Given the description of an element on the screen output the (x, y) to click on. 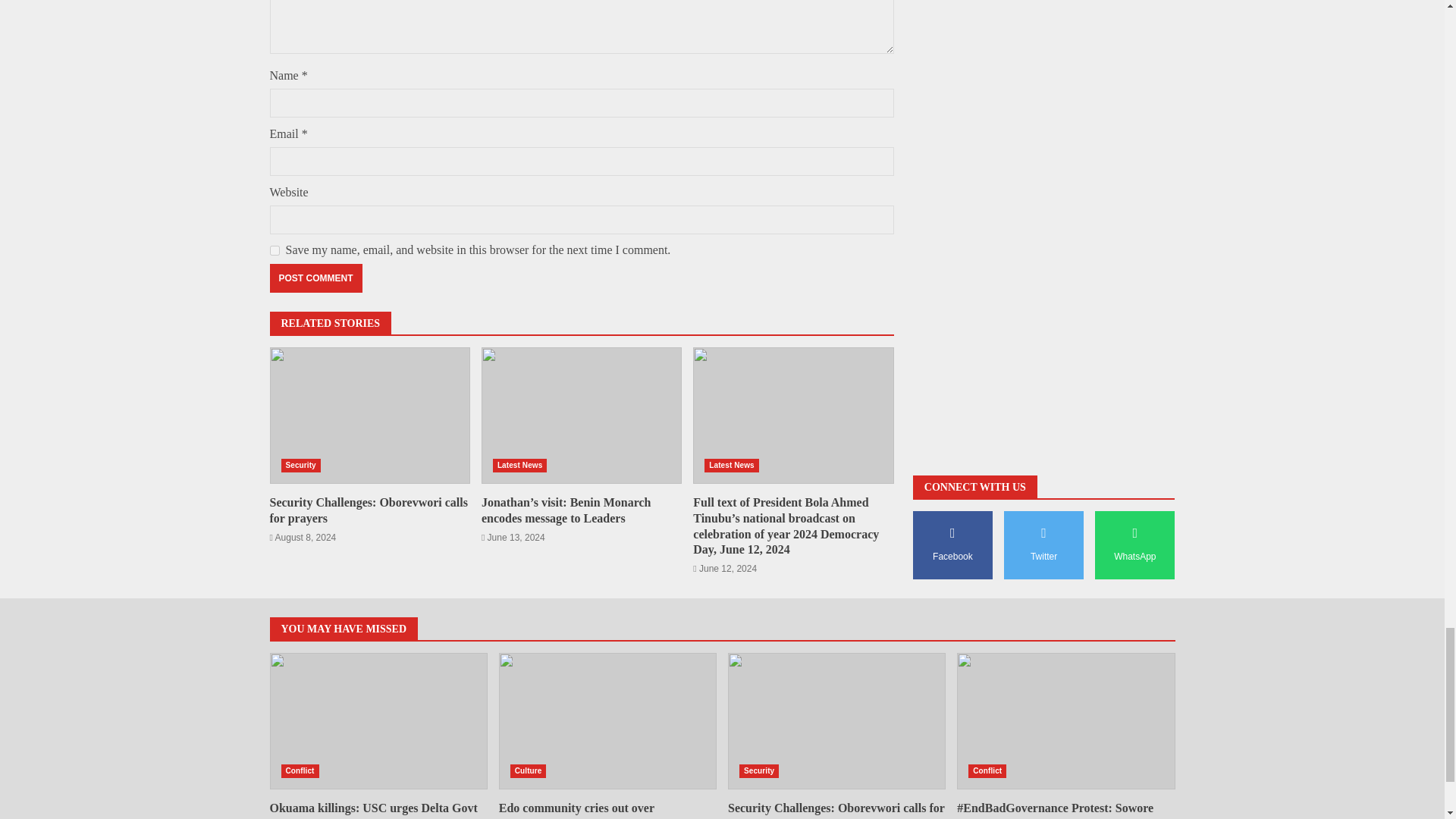
yes (274, 250)
Post Comment (315, 277)
Post Comment (315, 277)
